Given the description of an element on the screen output the (x, y) to click on. 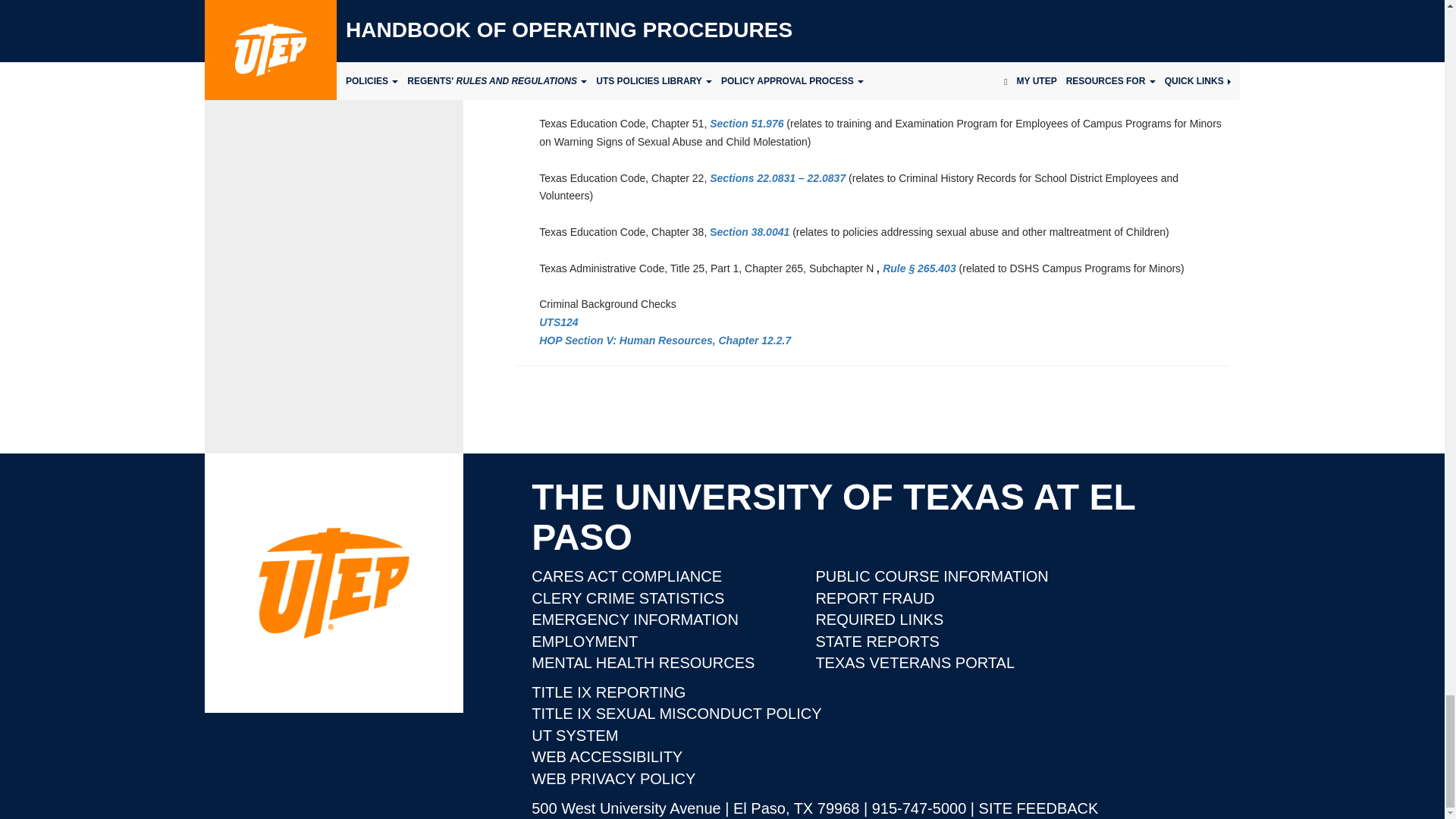
UTEP (334, 582)
